Given the description of an element on the screen output the (x, y) to click on. 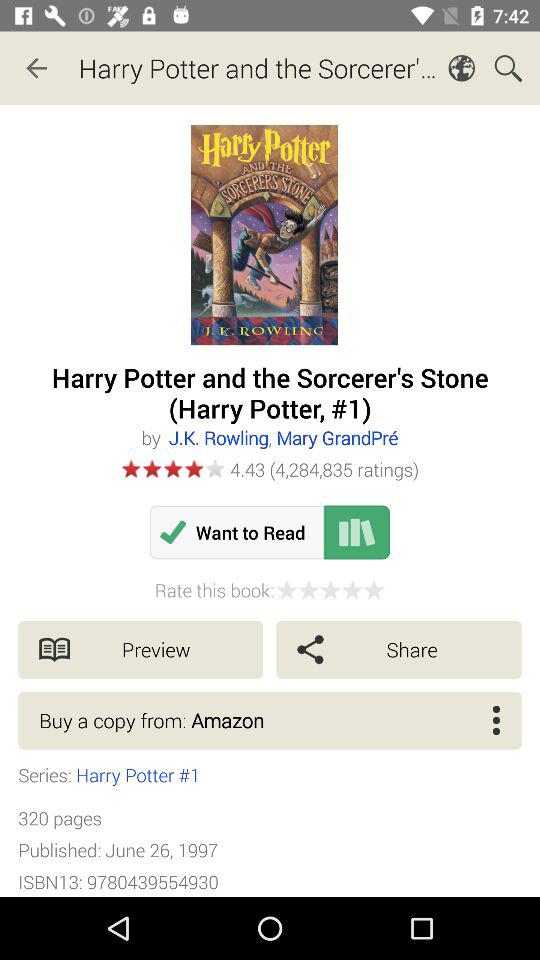
launch the item below the rate this book: icon (140, 649)
